Given the description of an element on the screen output the (x, y) to click on. 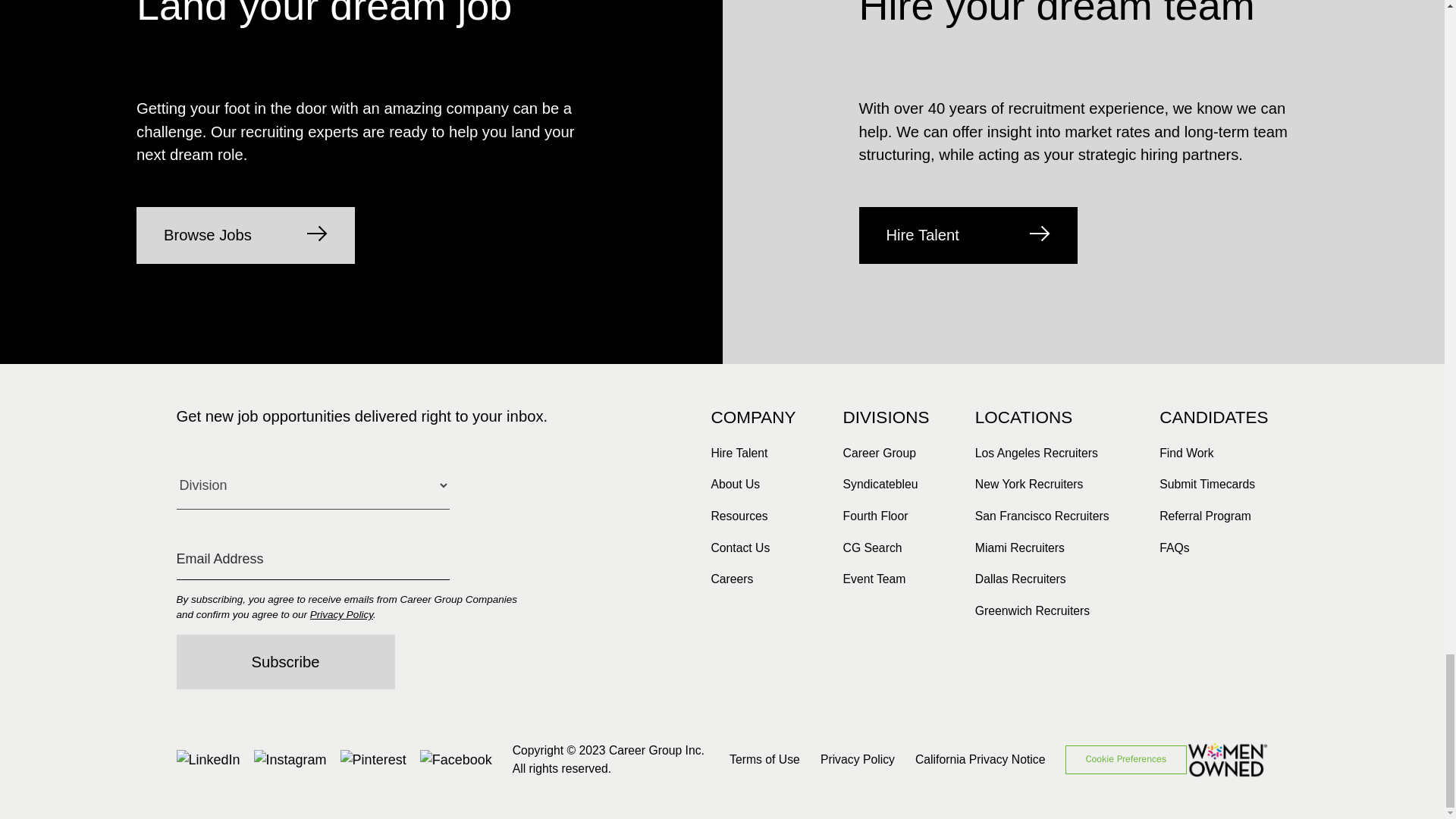
Contact Us (740, 548)
About Us (735, 484)
Resources (738, 516)
Hire Talent (968, 235)
Subscribe (285, 661)
Browse Jobs (245, 235)
Privacy Policy (341, 614)
Careers (731, 579)
Career Group (879, 453)
Subscribe (285, 661)
Fourth Floor (875, 516)
CG Search (872, 548)
Hire Talent (738, 453)
Syndicatebleu (880, 484)
